Given the description of an element on the screen output the (x, y) to click on. 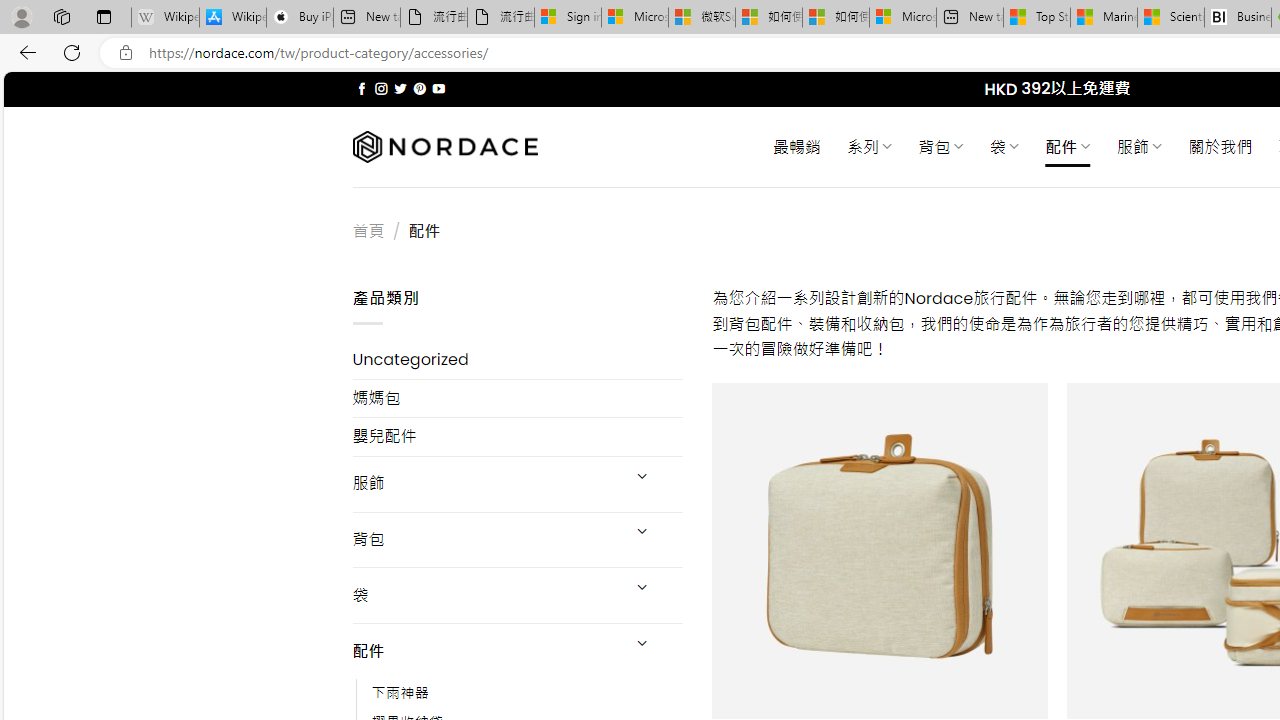
Microsoft account | Account Checkup (902, 17)
